Given the description of an element on the screen output the (x, y) to click on. 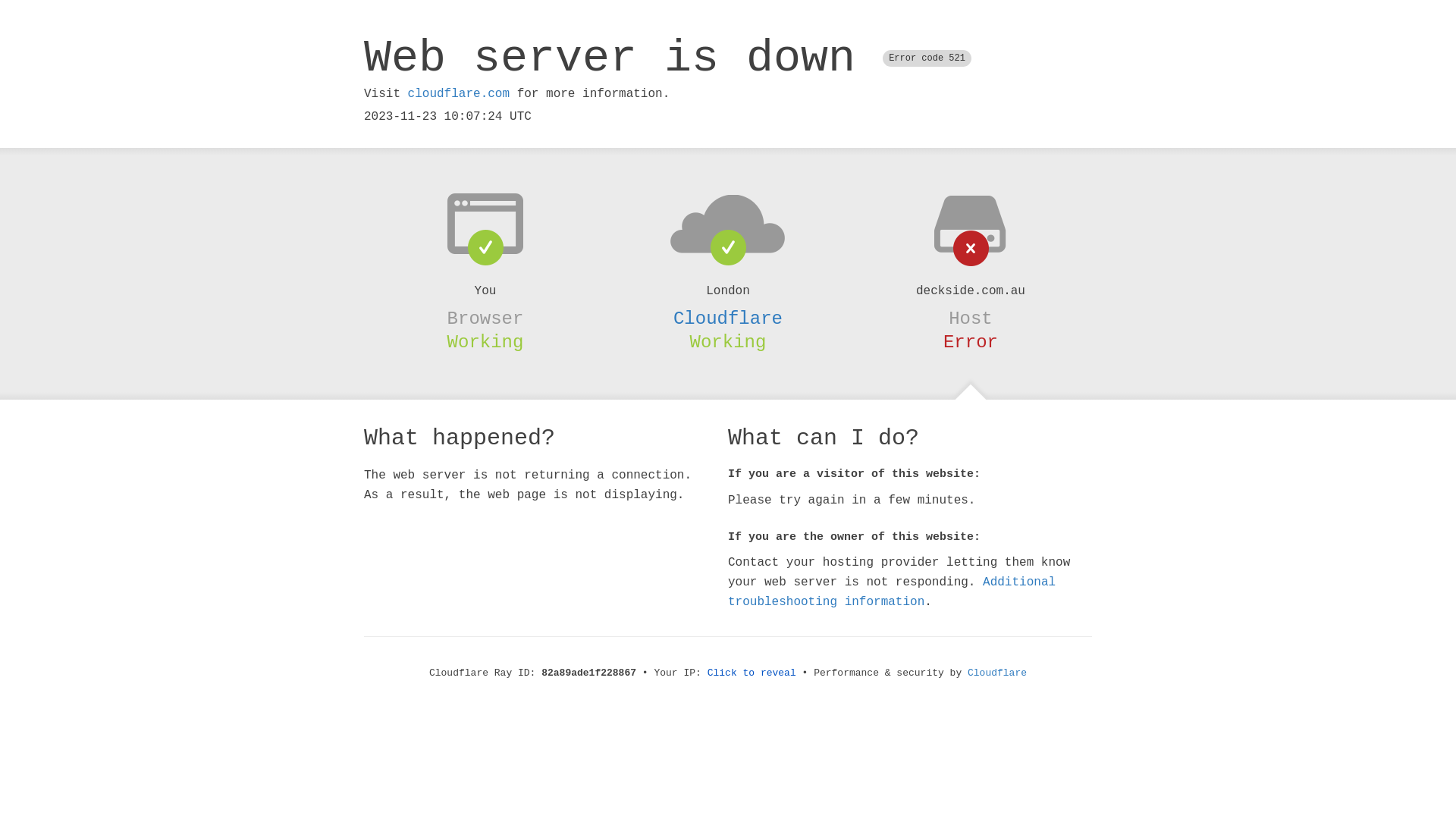
Cloudflare Element type: text (727, 318)
Additional troubleshooting information Element type: text (891, 591)
Click to reveal Element type: text (751, 672)
cloudflare.com Element type: text (458, 93)
Cloudflare Element type: text (996, 672)
